Given the description of an element on the screen output the (x, y) to click on. 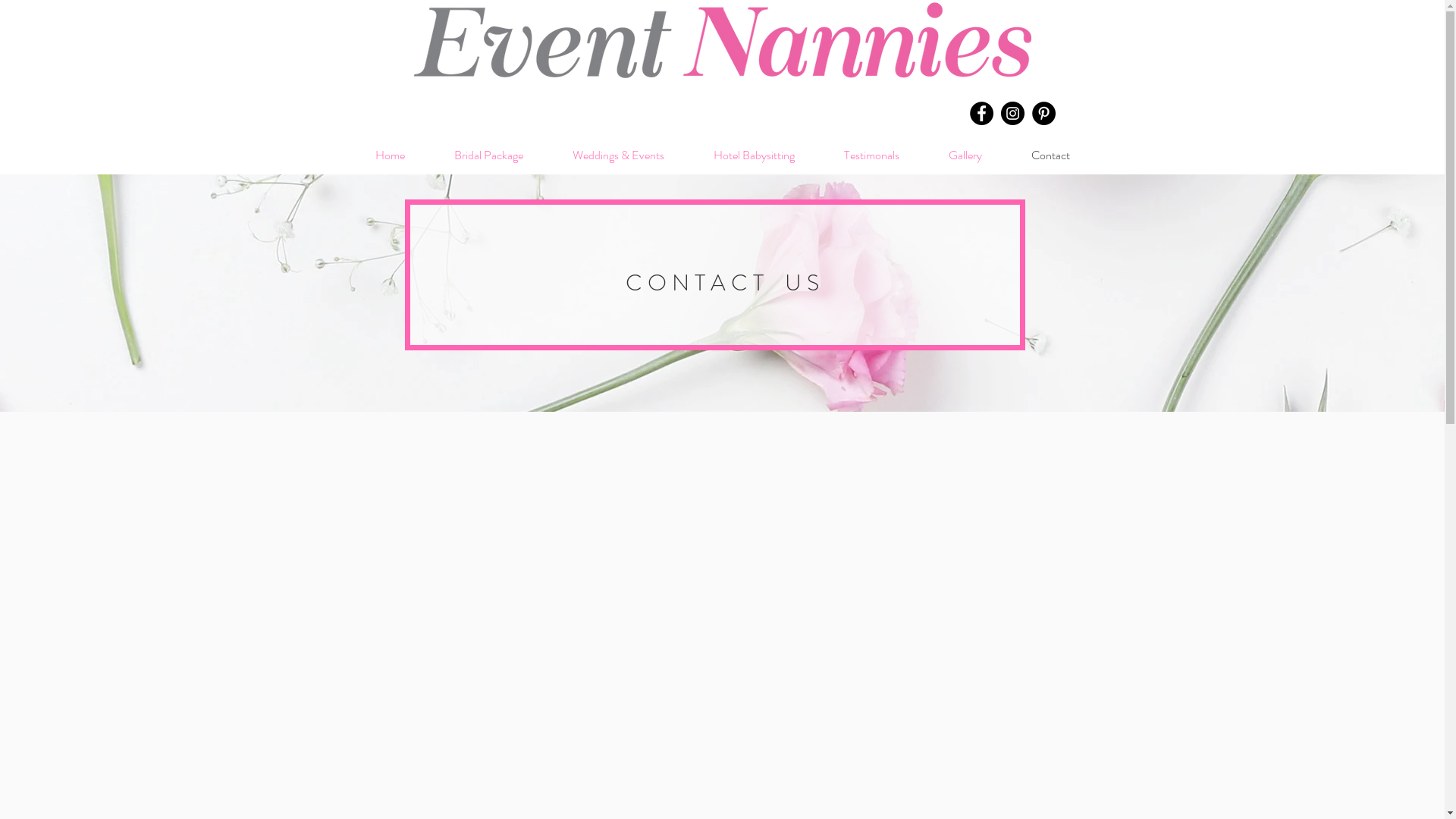
Home Element type: text (389, 155)
Gallery Element type: text (964, 155)
Contact Element type: text (1050, 155)
Hotel Babysitting Element type: text (753, 155)
Bridal Package Element type: text (488, 155)
Testimonals Element type: text (871, 155)
Weddings & Events Element type: text (617, 155)
